Given the description of an element on the screen output the (x, y) to click on. 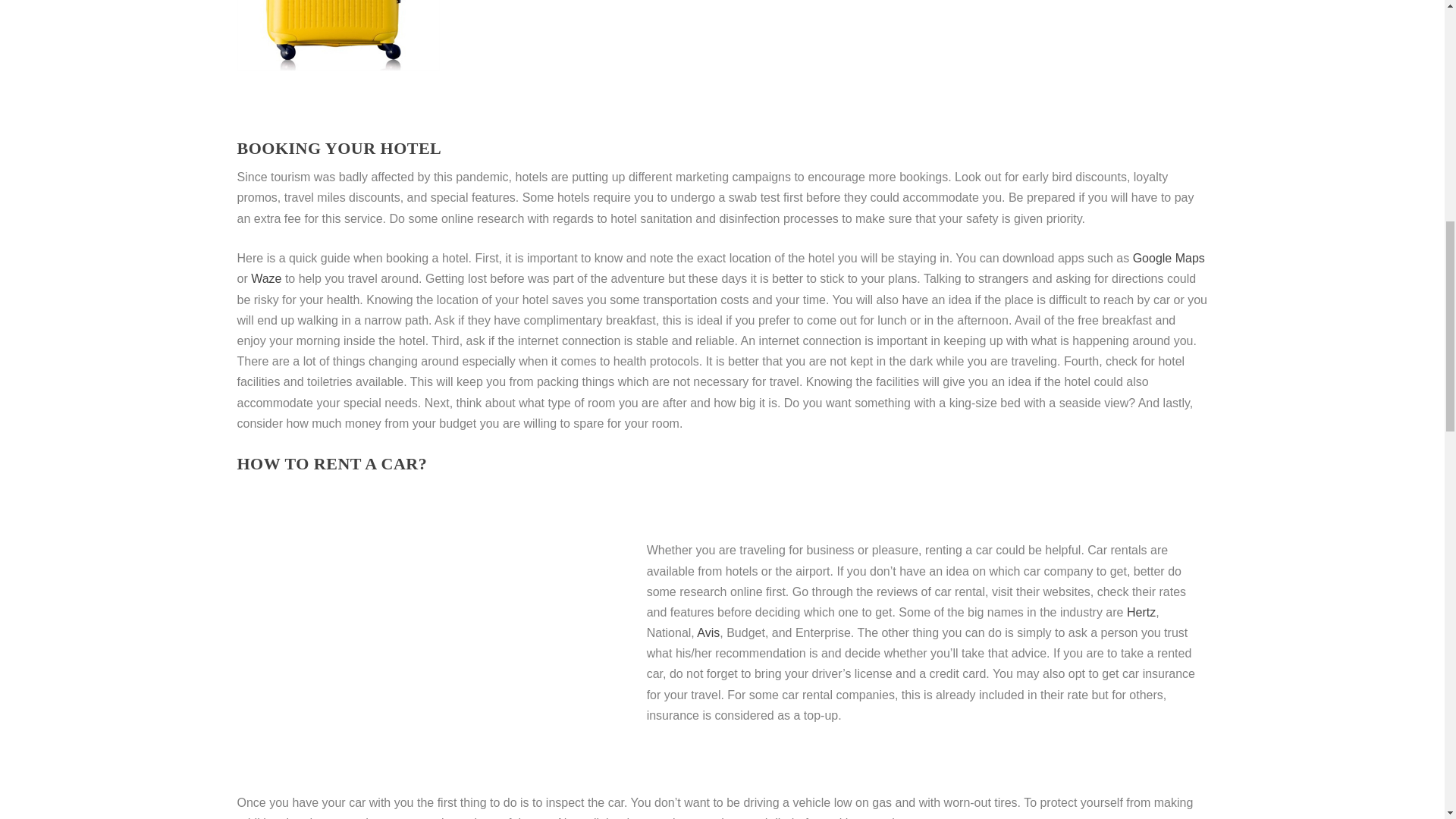
travelling bag (337, 35)
Google Maps (1168, 257)
Hertz (1141, 612)
Waze (267, 278)
Avis (708, 632)
